Given the description of an element on the screen output the (x, y) to click on. 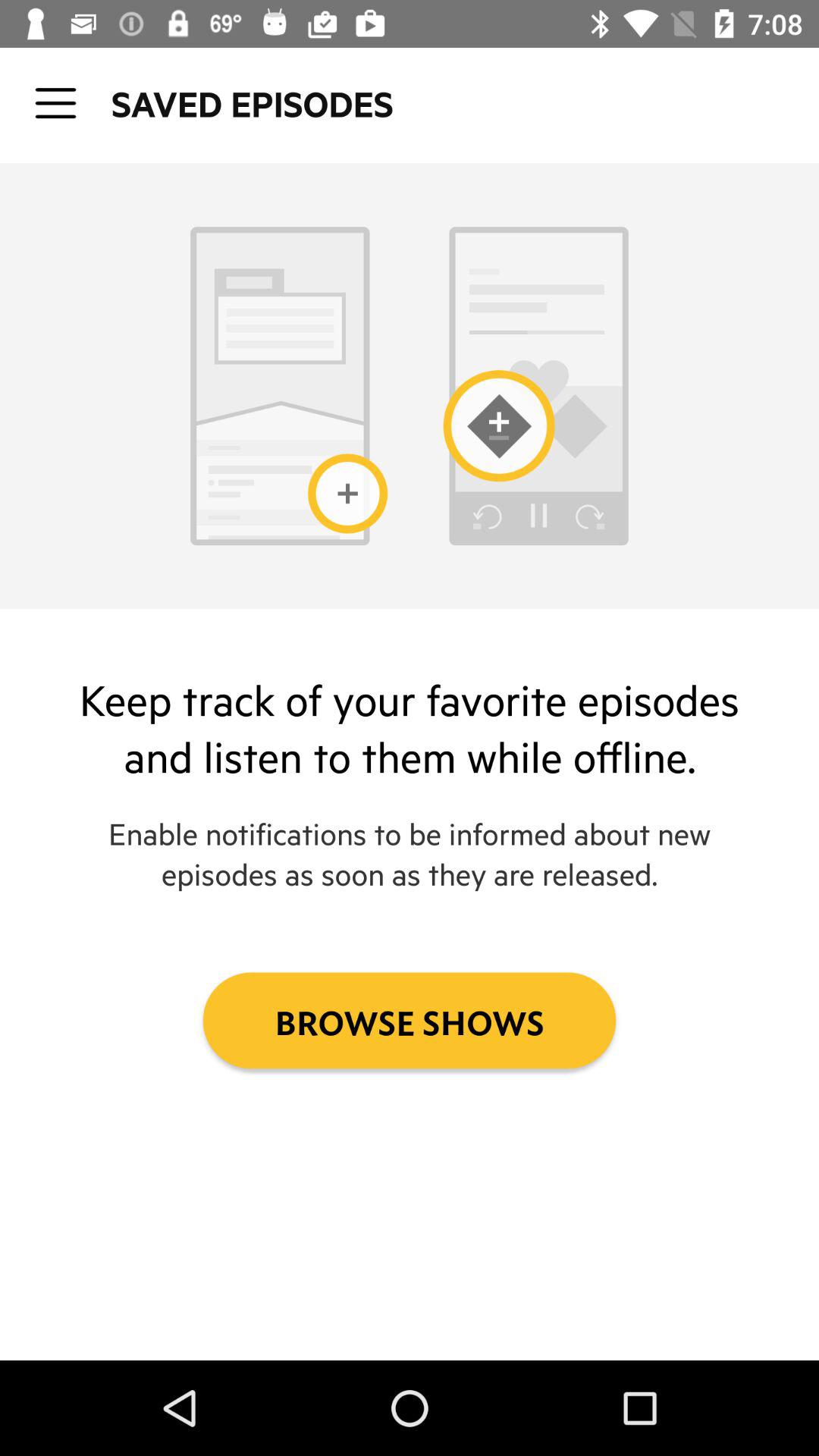
flip until browse shows item (409, 1020)
